Given the description of an element on the screen output the (x, y) to click on. 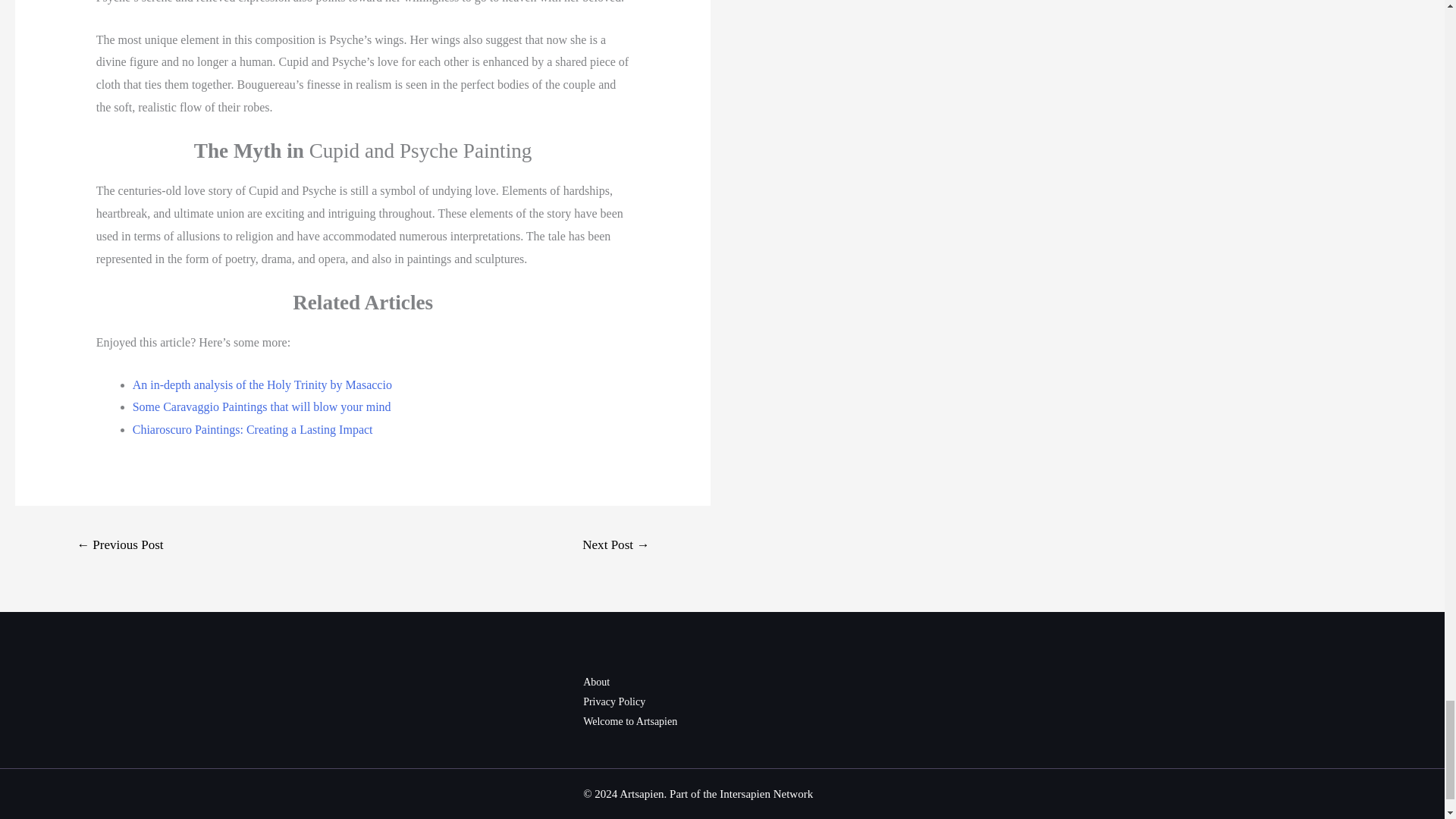
Chiaroscuro Paintings: Creating a Lasting Impact (252, 429)
Privacy Policy (614, 701)
Some Caravaggio Paintings that will blow your mind (261, 406)
An in-depth analysis of the Holy Trinity by Masaccio (261, 384)
Welcome to Artsapien (630, 721)
About (596, 681)
